Given the description of an element on the screen output the (x, y) to click on. 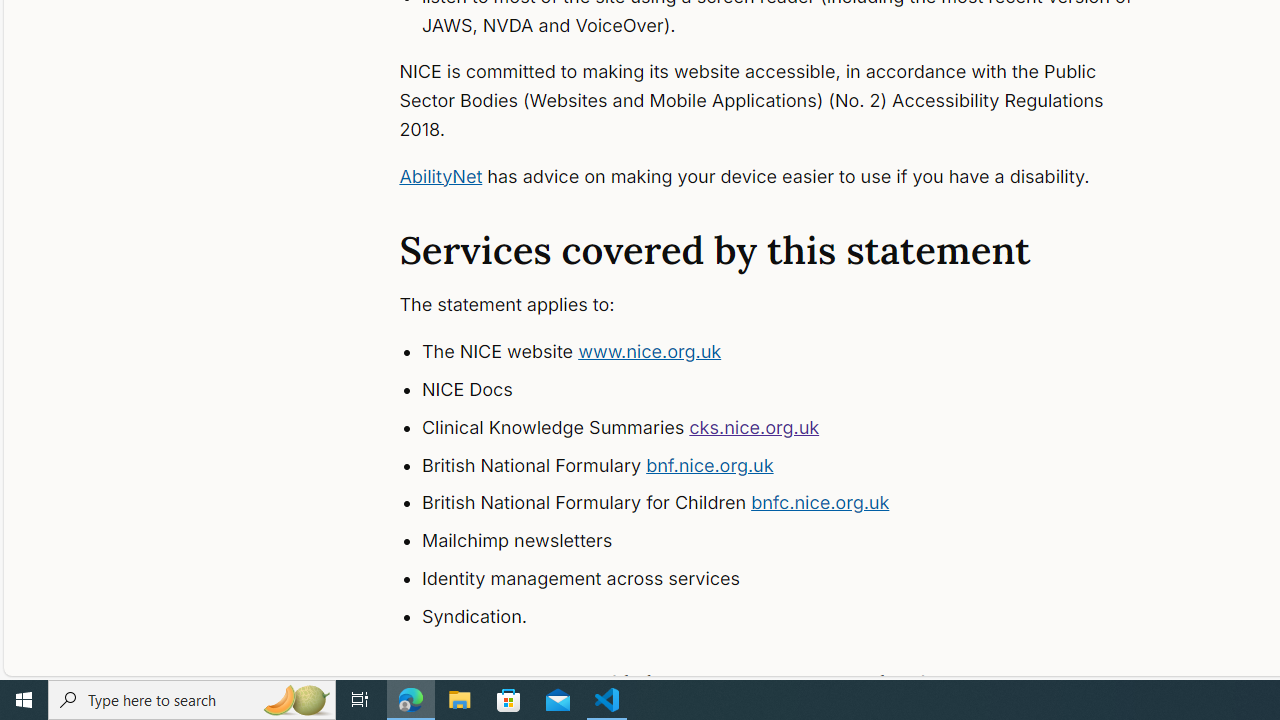
bnf.nice.org.uk (710, 464)
British National Formulary for Children bnfc.nice.org.uk (796, 503)
Syndication. (796, 616)
Identity management across services (796, 578)
AbilityNet (440, 175)
British National Formulary bnf.nice.org.uk (796, 465)
www.nice.org.uk (649, 351)
The NICE website www.nice.org.uk (796, 352)
NICE Docs (796, 389)
Mailchimp newsletters (796, 541)
Clinical Knowledge Summaries cks.nice.org.uk (796, 427)
cks.nice.org.uk (754, 426)
bnfc.nice.org.uk (820, 502)
